Given the description of an element on the screen output the (x, y) to click on. 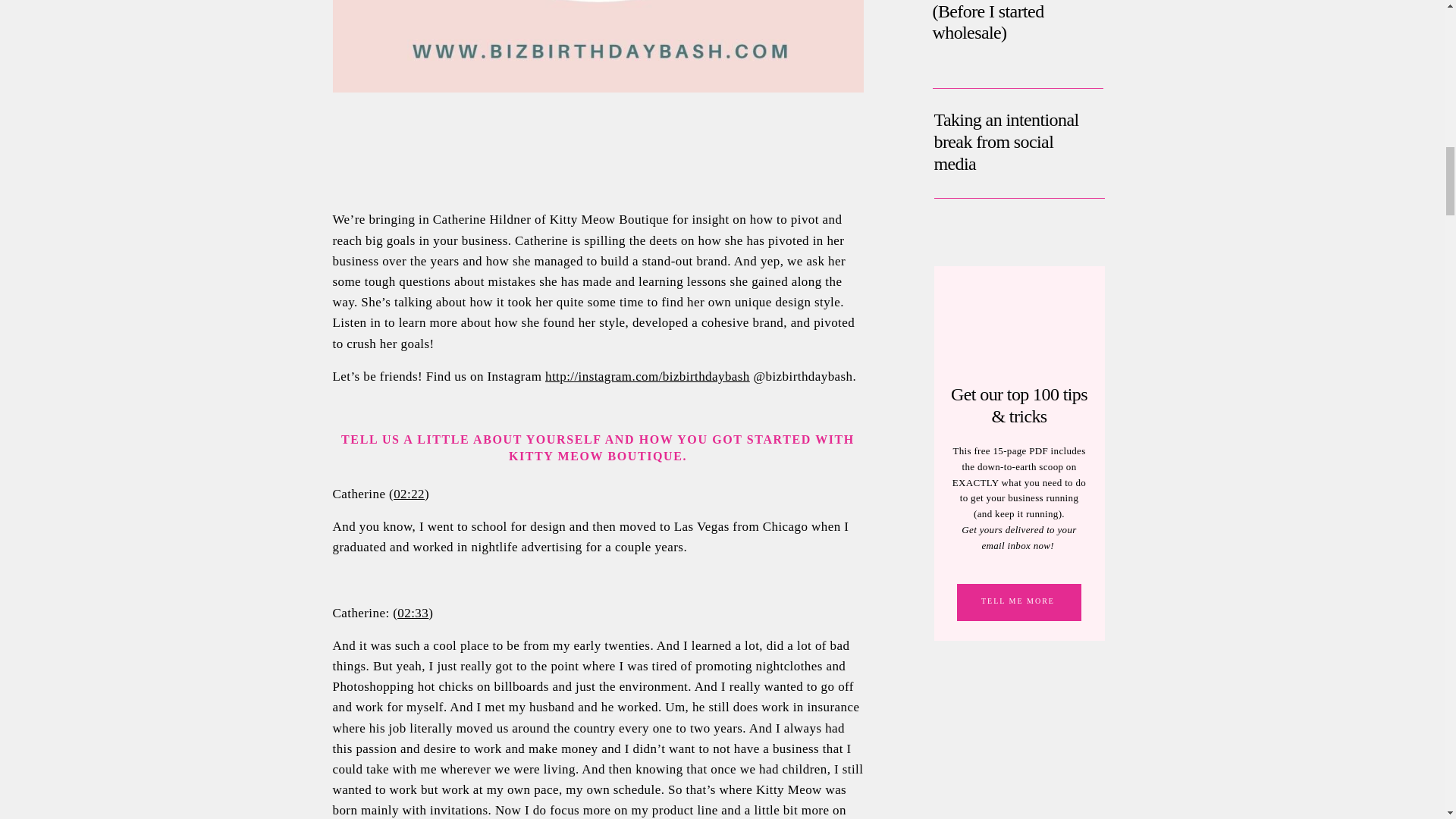
02:33 (412, 612)
TELL ME MORE (1017, 602)
02:22 (409, 493)
Taking an intentional break from social media (1006, 170)
